Given the description of an element on the screen output the (x, y) to click on. 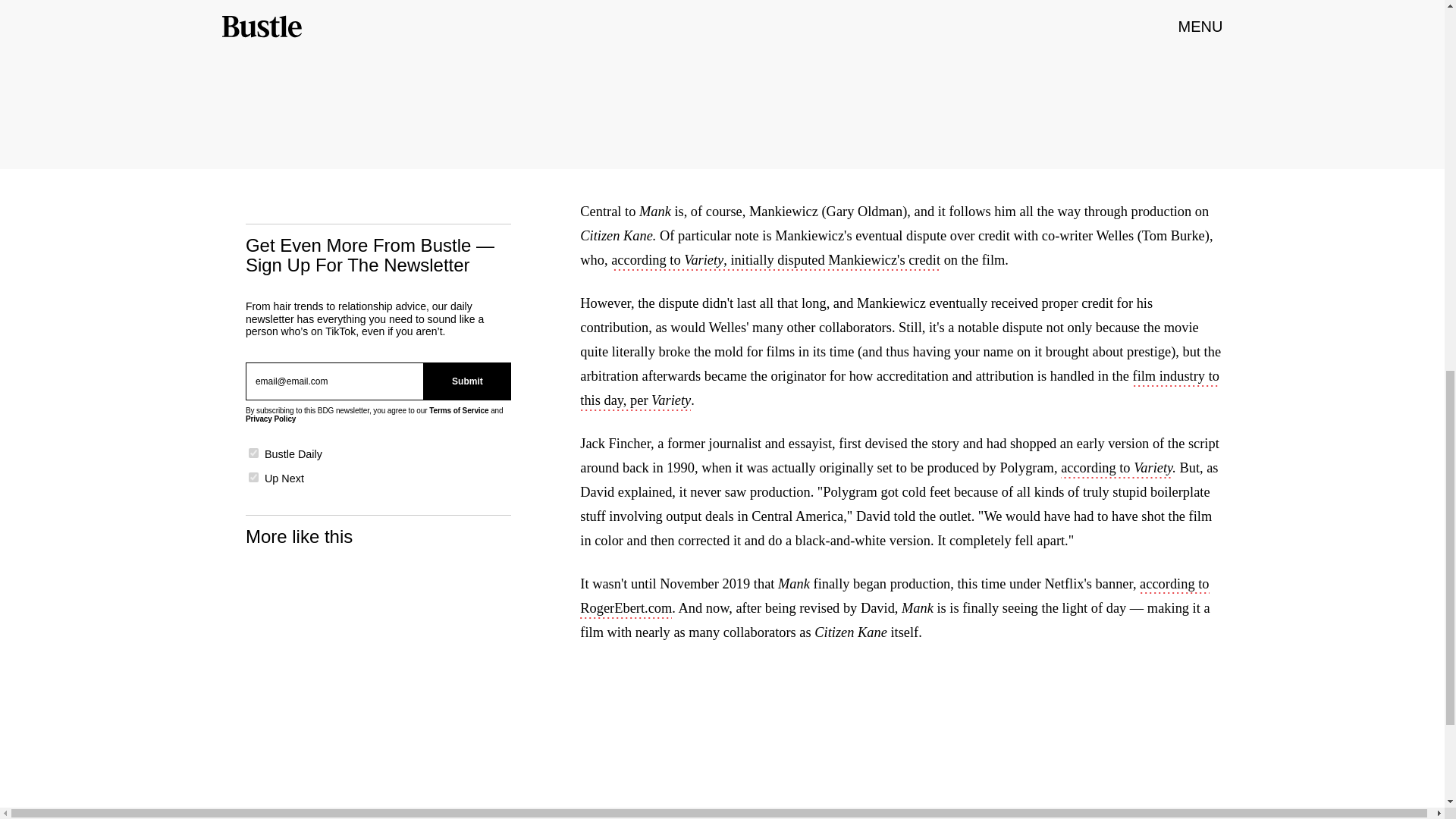
Submit (467, 381)
Terms of Service (458, 410)
according to Variety (1116, 469)
according to RogerEbert.com (893, 597)
according to Variety, initially disputed Mankiewicz's credit (775, 261)
film industry to this day, per Variety (899, 389)
Privacy Policy (270, 418)
